Given the description of an element on the screen output the (x, y) to click on. 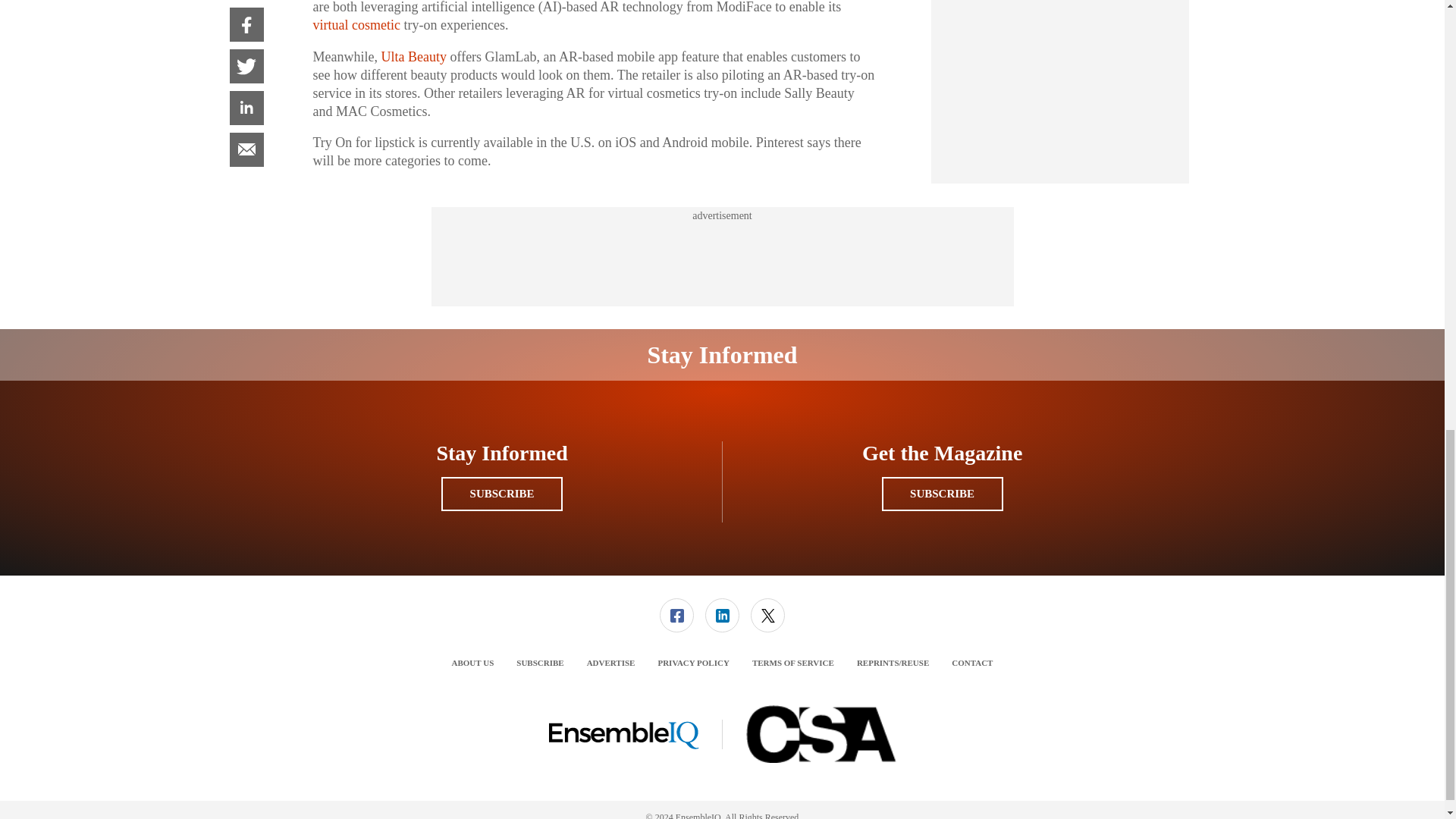
3rd party ad content (721, 256)
SUBSCRIBE (501, 493)
SUBSCRIBE (942, 493)
Ulta Beauty (412, 56)
virtual cosmetic (355, 24)
